Given the description of an element on the screen output the (x, y) to click on. 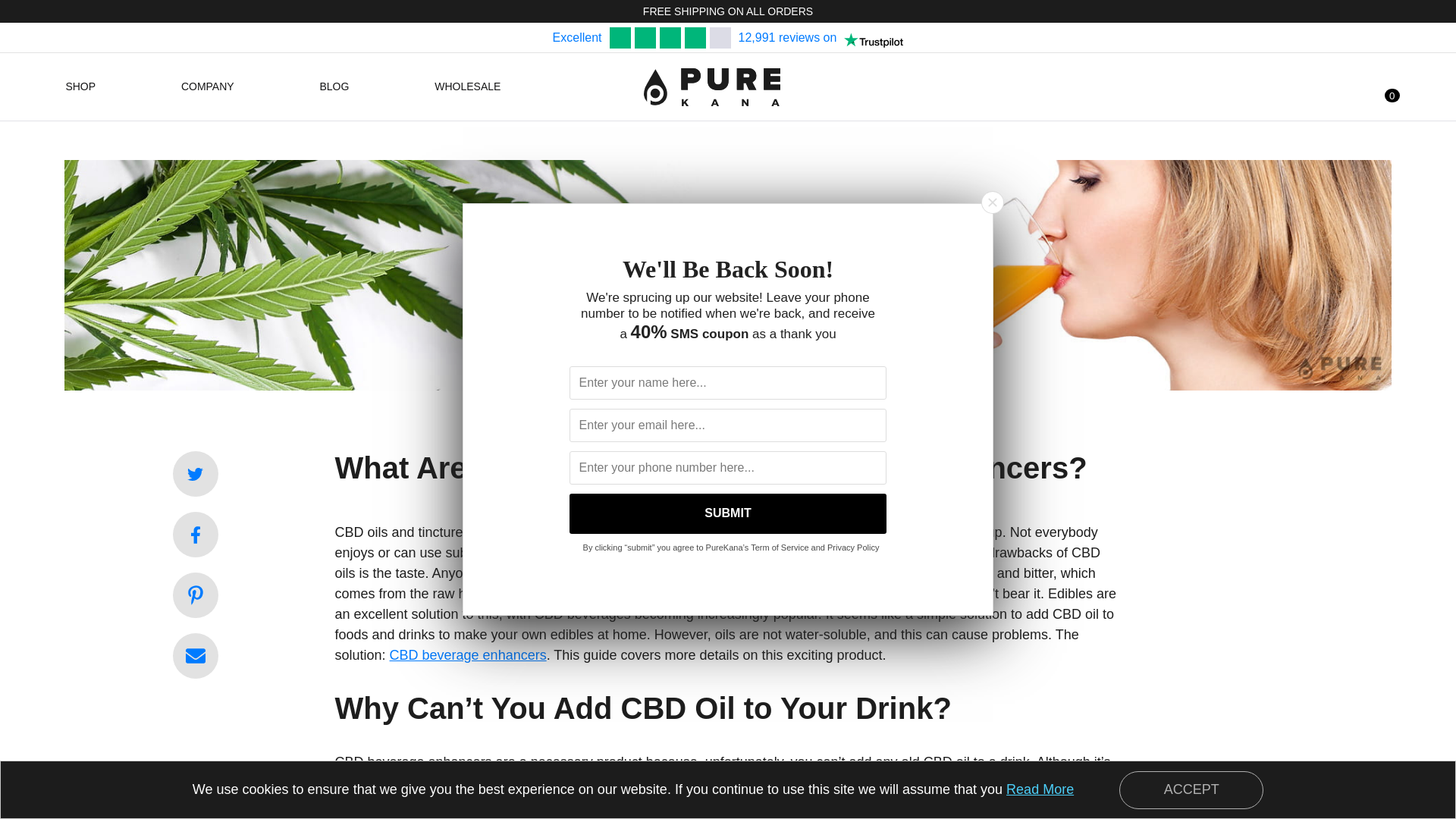
Share this on Facebook (195, 534)
SHOP (84, 86)
Submit (727, 513)
Close (992, 201)
Share this on Pinterest (195, 595)
Email this to a friend (195, 655)
Share this on Twitter (195, 473)
